Given the description of an element on the screen output the (x, y) to click on. 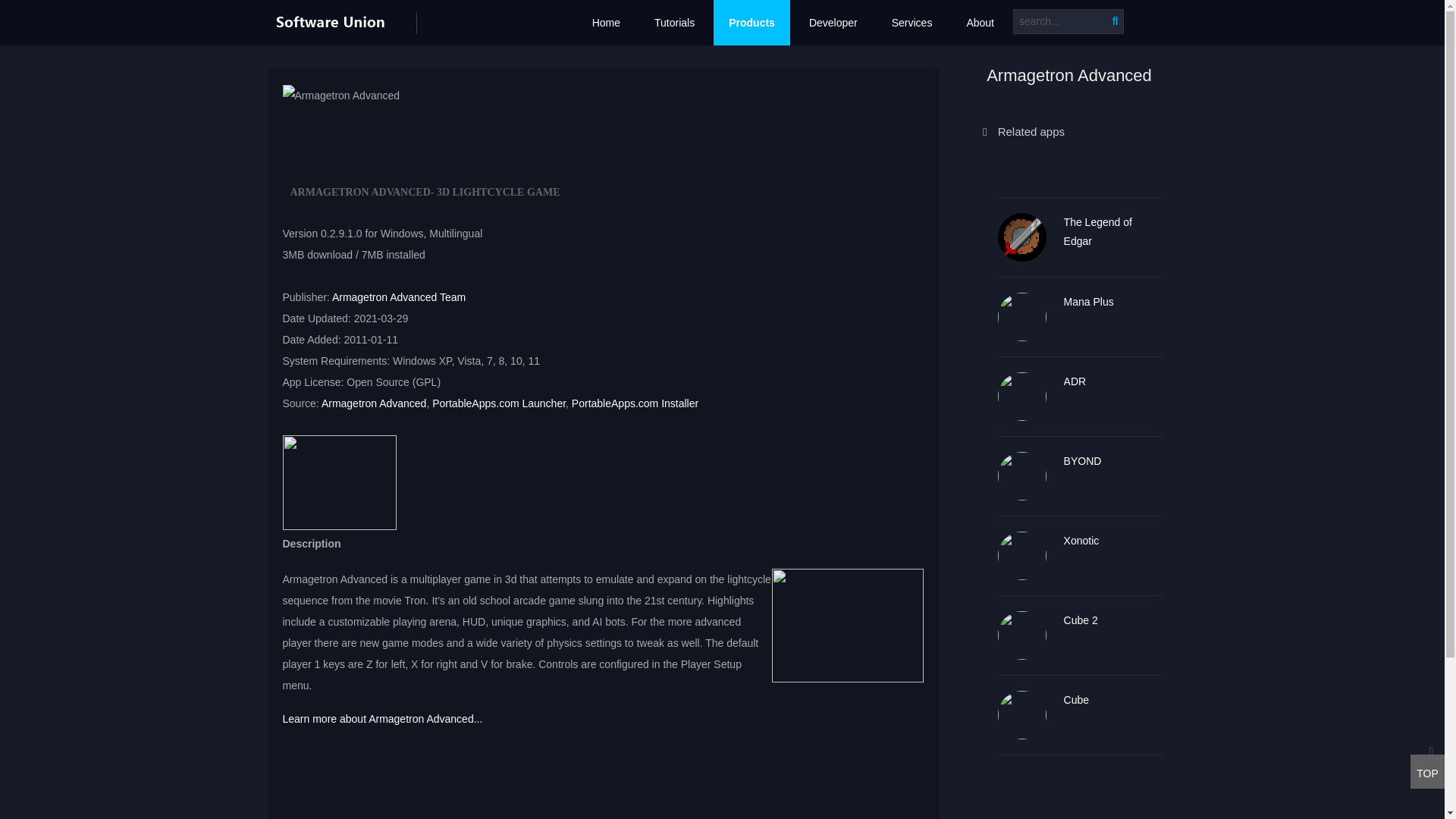
Services (911, 22)
Armagetron Advanced Team (398, 297)
The Legend of Edgar (1112, 231)
Tutorials (674, 22)
Armagetron Advanced (340, 95)
PortableApps.com Launcher (499, 403)
ADR (1112, 381)
Developer (832, 22)
Cube 2 (1112, 619)
Mana Plus (1112, 302)
